Given the description of an element on the screen output the (x, y) to click on. 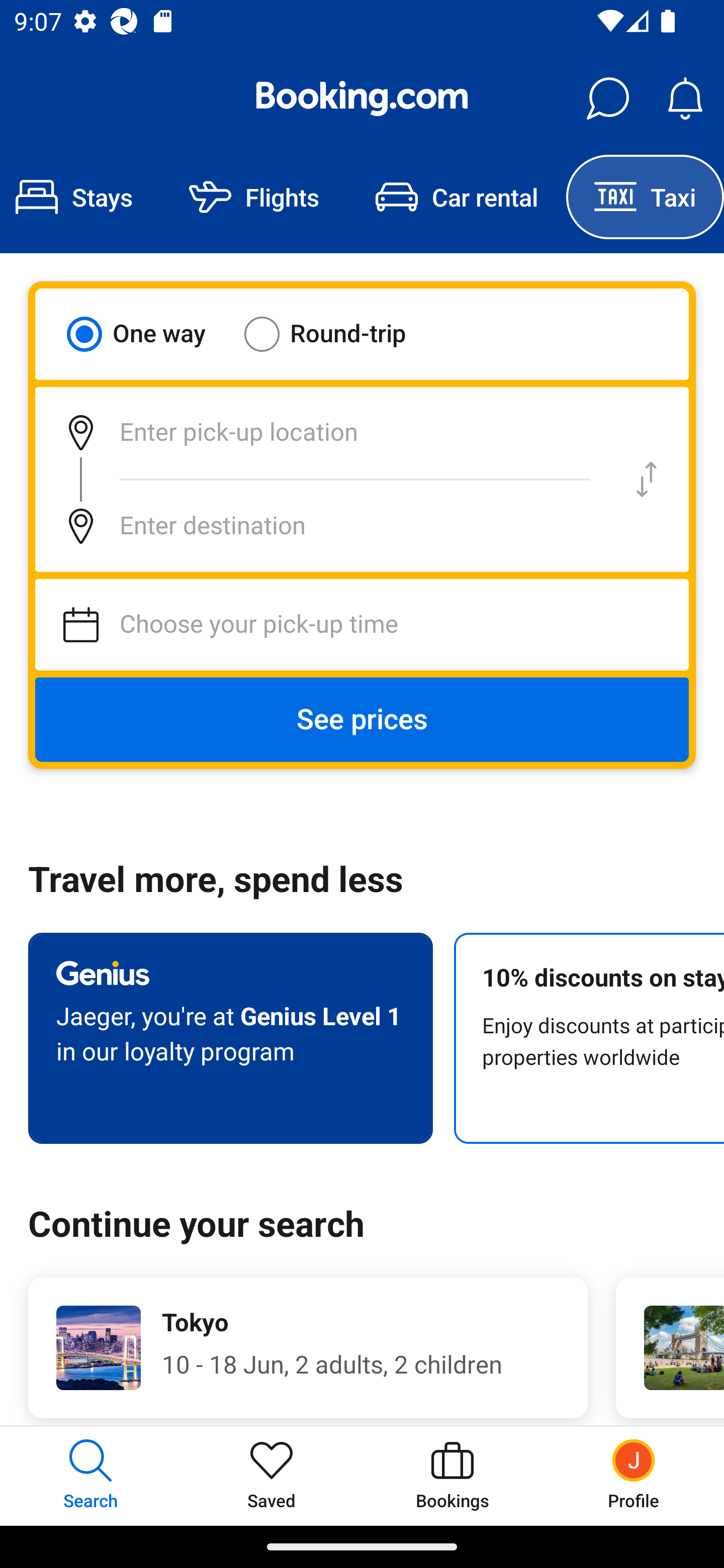
Messages (607, 98)
Notifications (685, 98)
Stays (80, 197)
Flights (253, 197)
Car rental (456, 197)
Taxi (645, 197)
Round-trip (337, 333)
Enter pick-up location (319, 432)
Swap pick-up location and destination (646, 479)
Enter destination (319, 525)
Choose your pick-up time (361, 624)
See prices (361, 719)
Tokyo 10 - 18 Jun, 2 adults, 2 children (307, 1347)
Saved (271, 1475)
Bookings (452, 1475)
Profile (633, 1475)
